Given the description of an element on the screen output the (x, y) to click on. 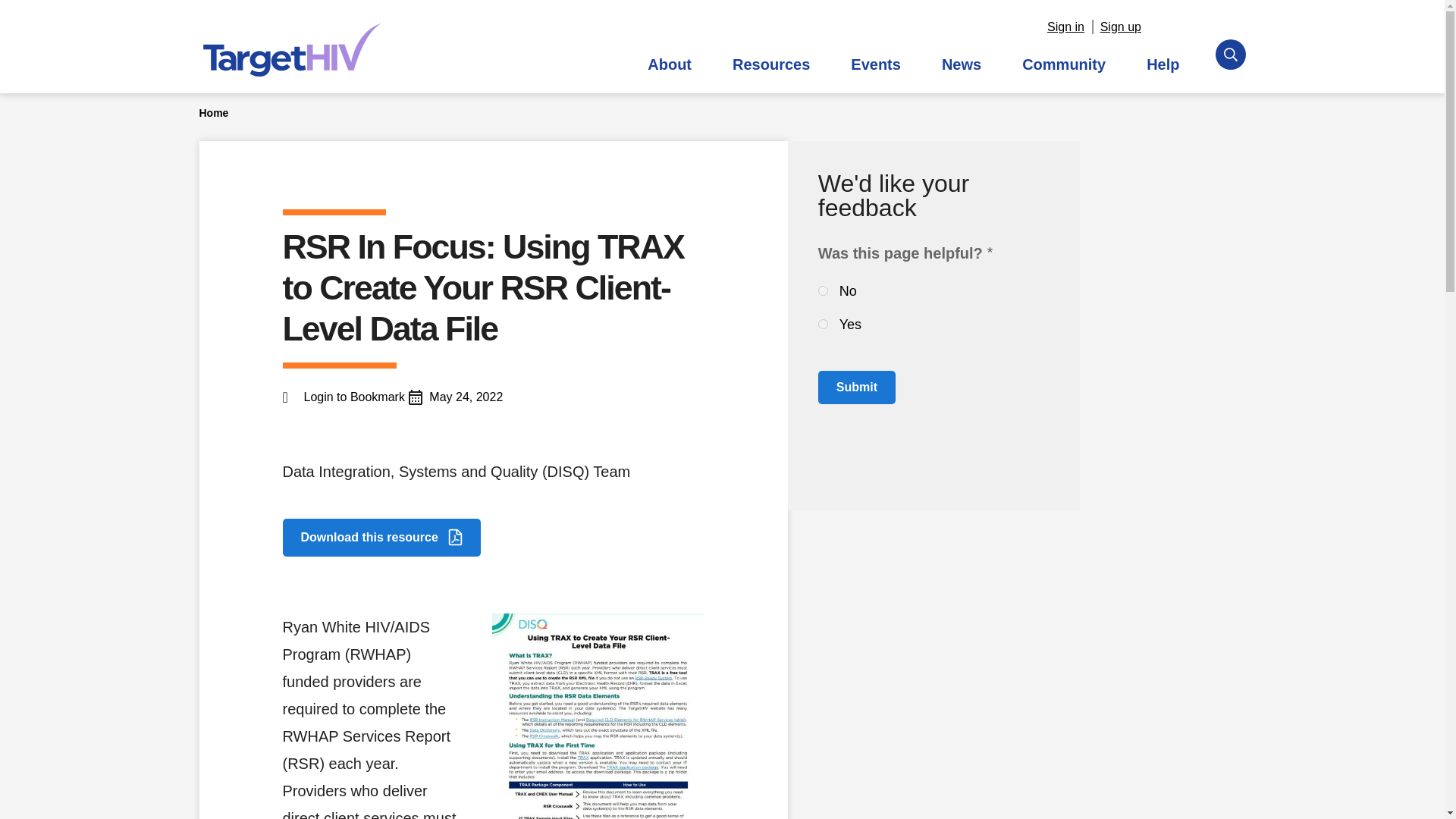
Resources (770, 64)
News (961, 64)
no (823, 290)
Enter the terms you wish to search for. (722, 36)
TargetHIV (291, 49)
About (669, 64)
Community (1063, 64)
Events (875, 64)
Search (910, 36)
